Given the description of an element on the screen output the (x, y) to click on. 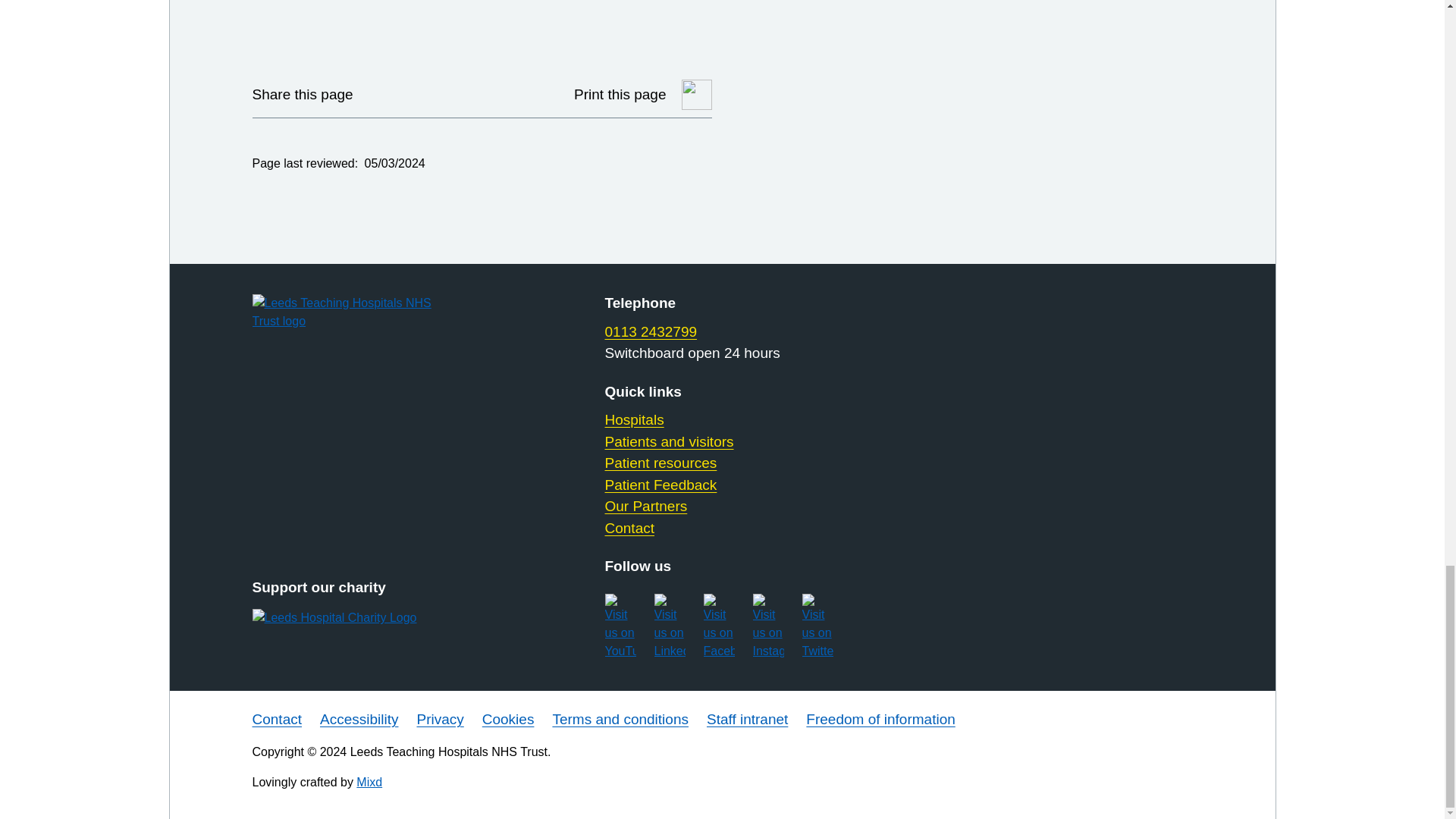
Share on Facebook (422, 94)
Leeds Teaching Hospitals NHS Trust Homepage (359, 312)
Share via Email (460, 94)
Leeds Hospital Charity (359, 618)
